Given the description of an element on the screen output the (x, y) to click on. 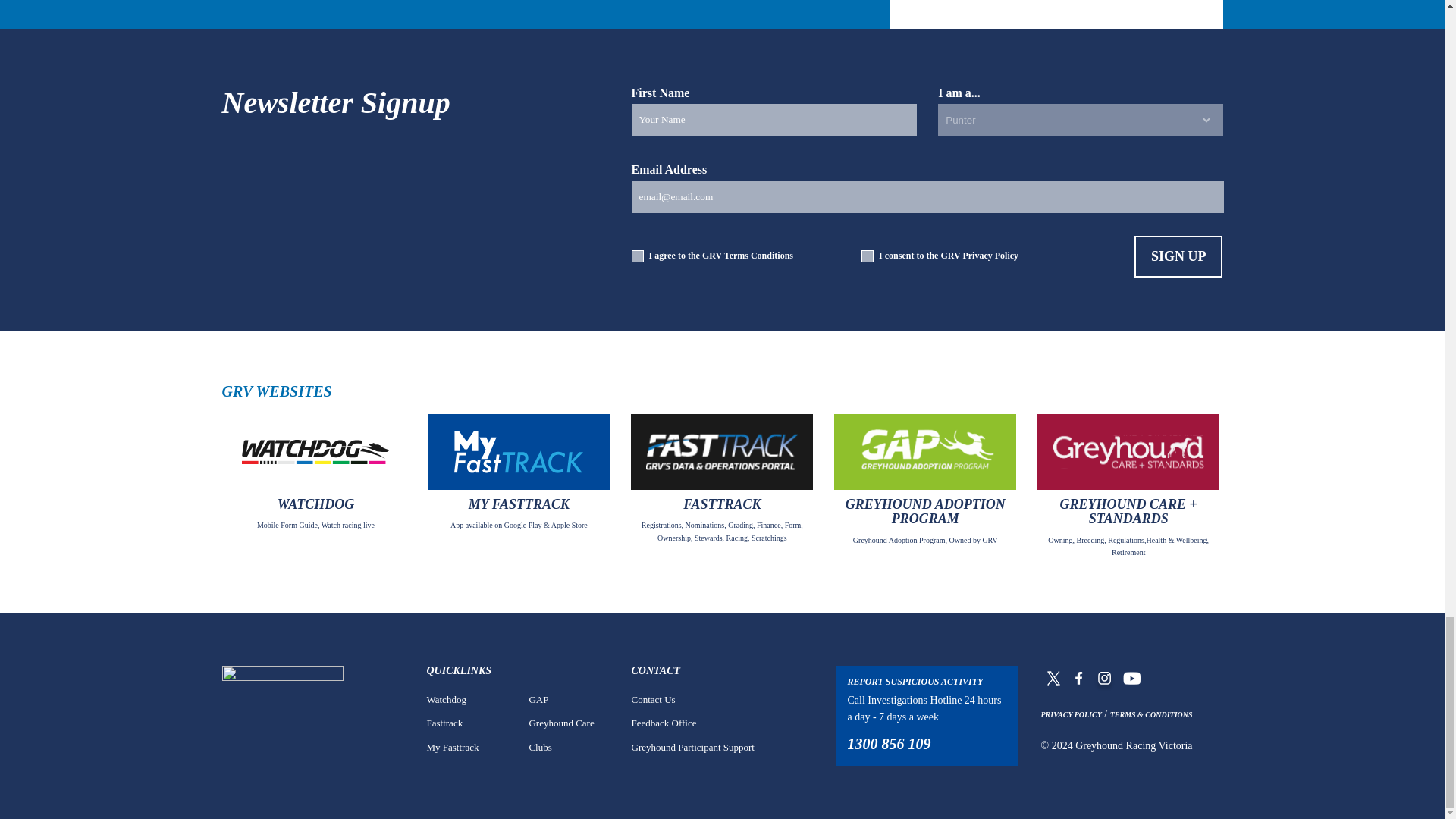
Sign Up (1178, 256)
1 (867, 256)
1 (636, 256)
